Given the description of an element on the screen output the (x, y) to click on. 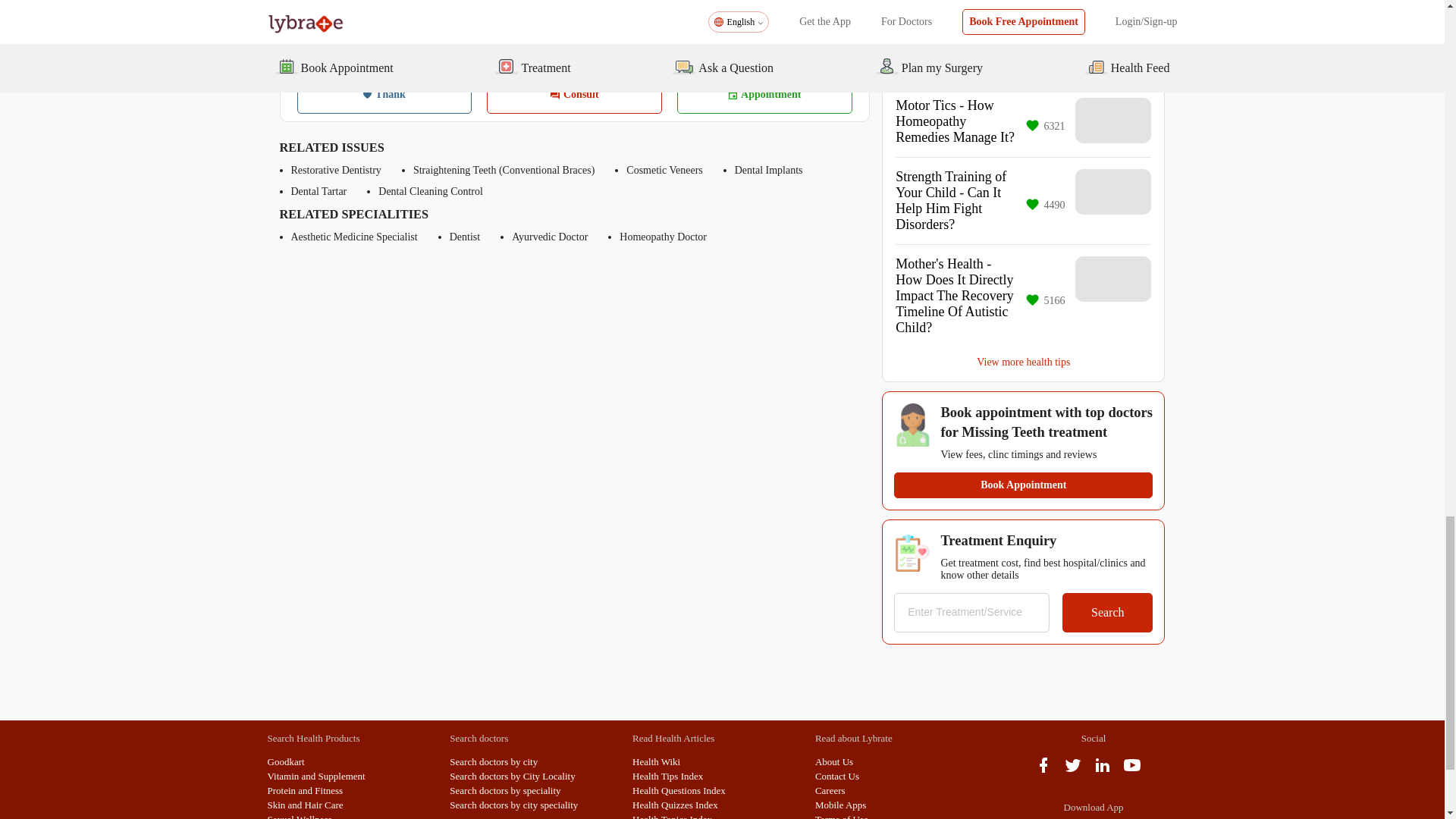
Consult (574, 94)
Dental Tartar (319, 191)
Aesthetic Medicine Specialist (354, 236)
Cosmetic Veneers (663, 170)
Protein and Fitness (304, 790)
Homeopathy Doctor (663, 236)
Appointment (764, 94)
Restorative Dentistry (336, 170)
Thank (384, 94)
Sexual Wellness (298, 816)
